Given the description of an element on the screen output the (x, y) to click on. 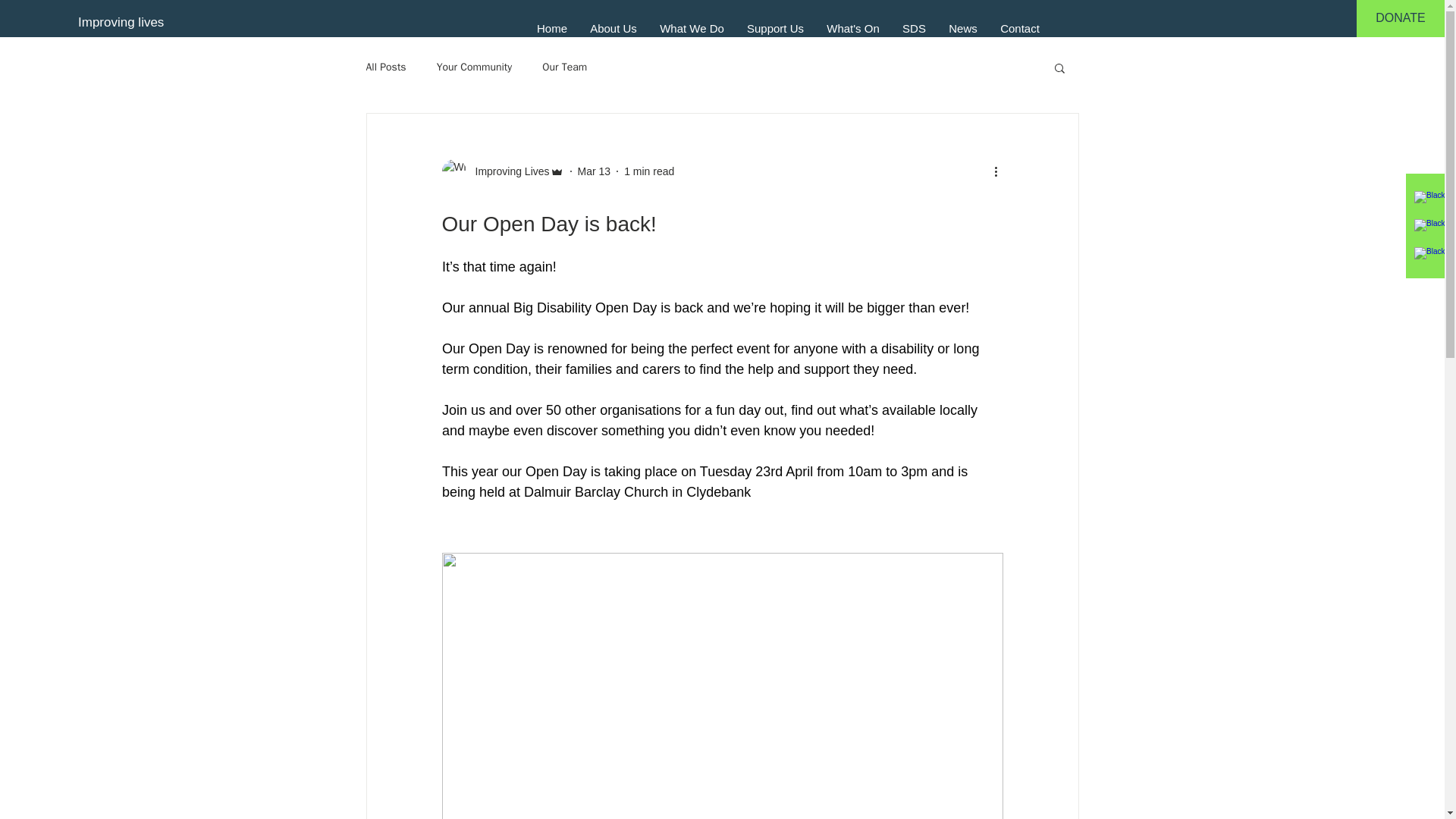
Our Team (563, 67)
All Posts (385, 67)
Improving lives (120, 22)
Mar 13 (594, 171)
What We Do (691, 28)
About Us (612, 28)
Improving Lives (506, 171)
Contact (1019, 28)
Support Us (775, 28)
Home (551, 28)
